Given the description of an element on the screen output the (x, y) to click on. 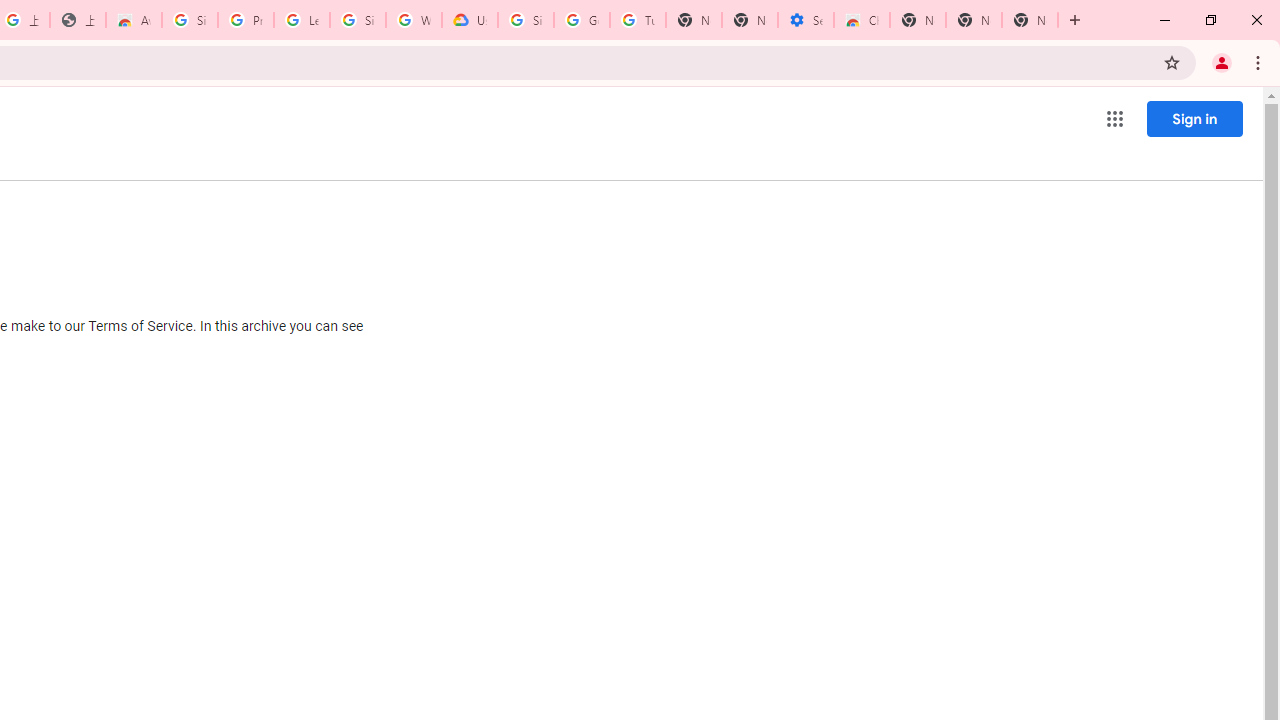
Sign in - Google Accounts (358, 20)
Chrome Web Store - Accessibility extensions (861, 20)
New Tab (1030, 20)
Sign in - Google Accounts (525, 20)
Google Account Help (582, 20)
Settings - Accessibility (806, 20)
